Given the description of an element on the screen output the (x, y) to click on. 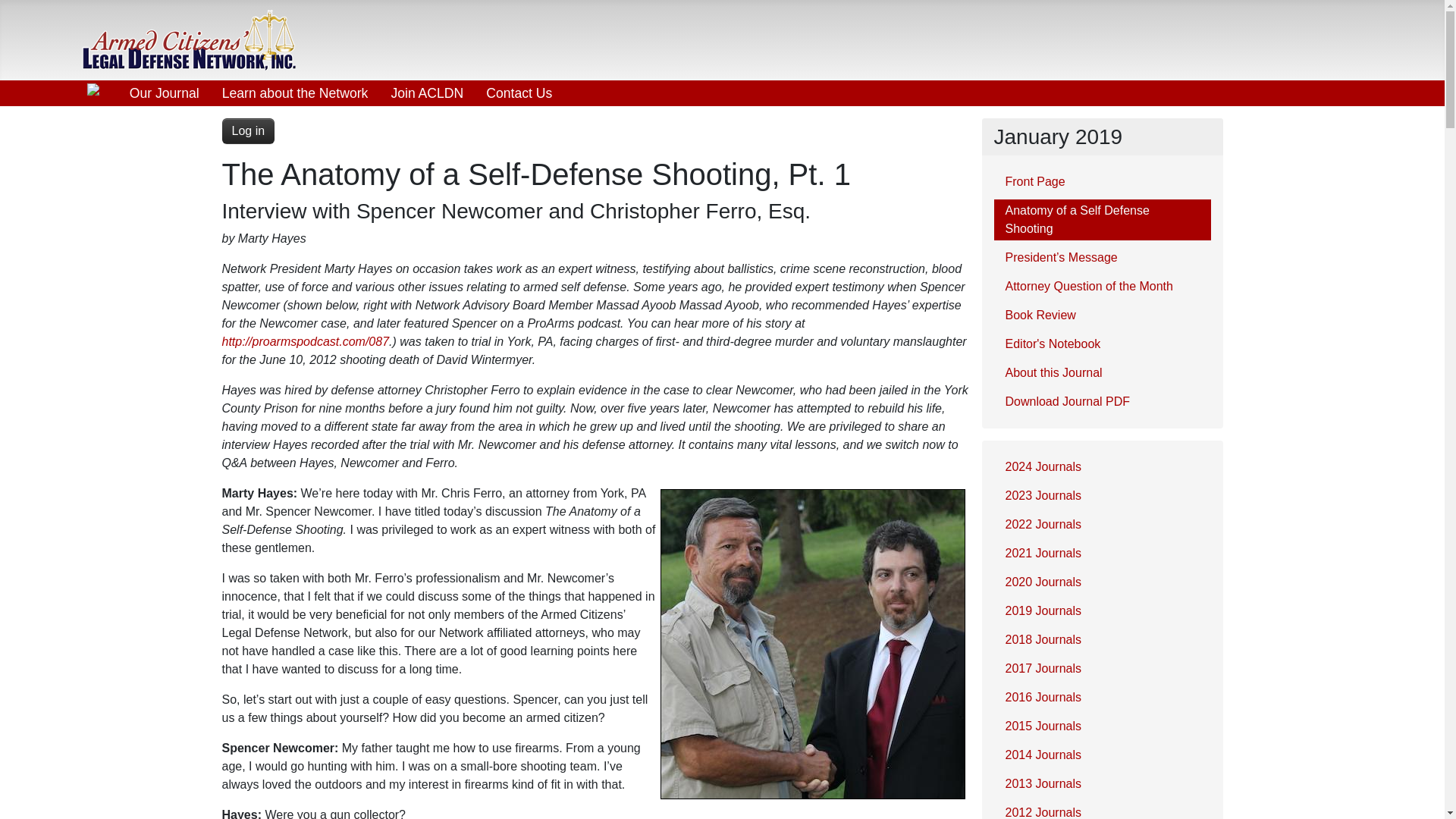
2020 Journals (1100, 581)
2016 Journals (1100, 697)
2017 Journals (1100, 668)
Log in (248, 130)
2014 Journals (1100, 754)
Anatomy of a Self Defense Shooting (1100, 219)
2024 Journals (1100, 466)
Learn about the Network (295, 93)
Front Page (1100, 181)
